Given the description of an element on the screen output the (x, y) to click on. 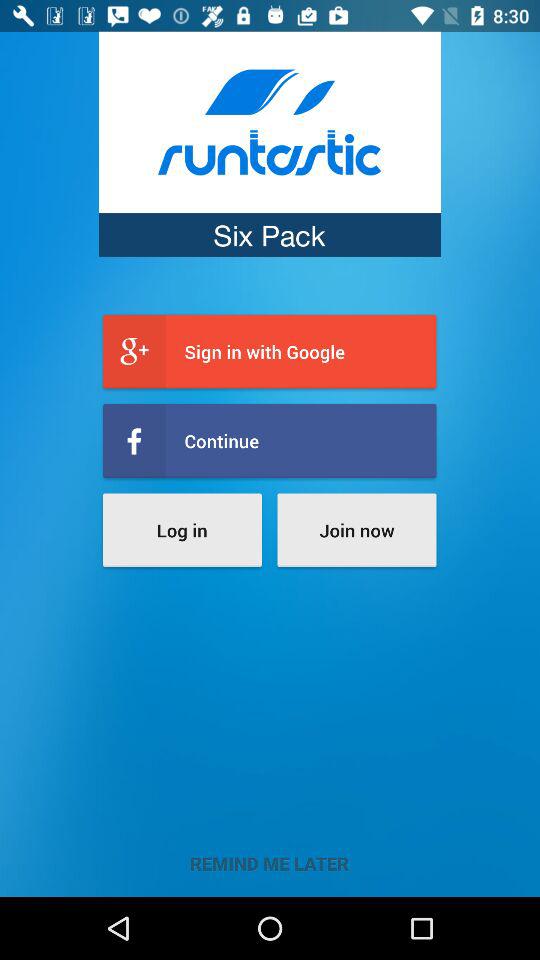
turn off icon above the continue item (269, 351)
